Given the description of an element on the screen output the (x, y) to click on. 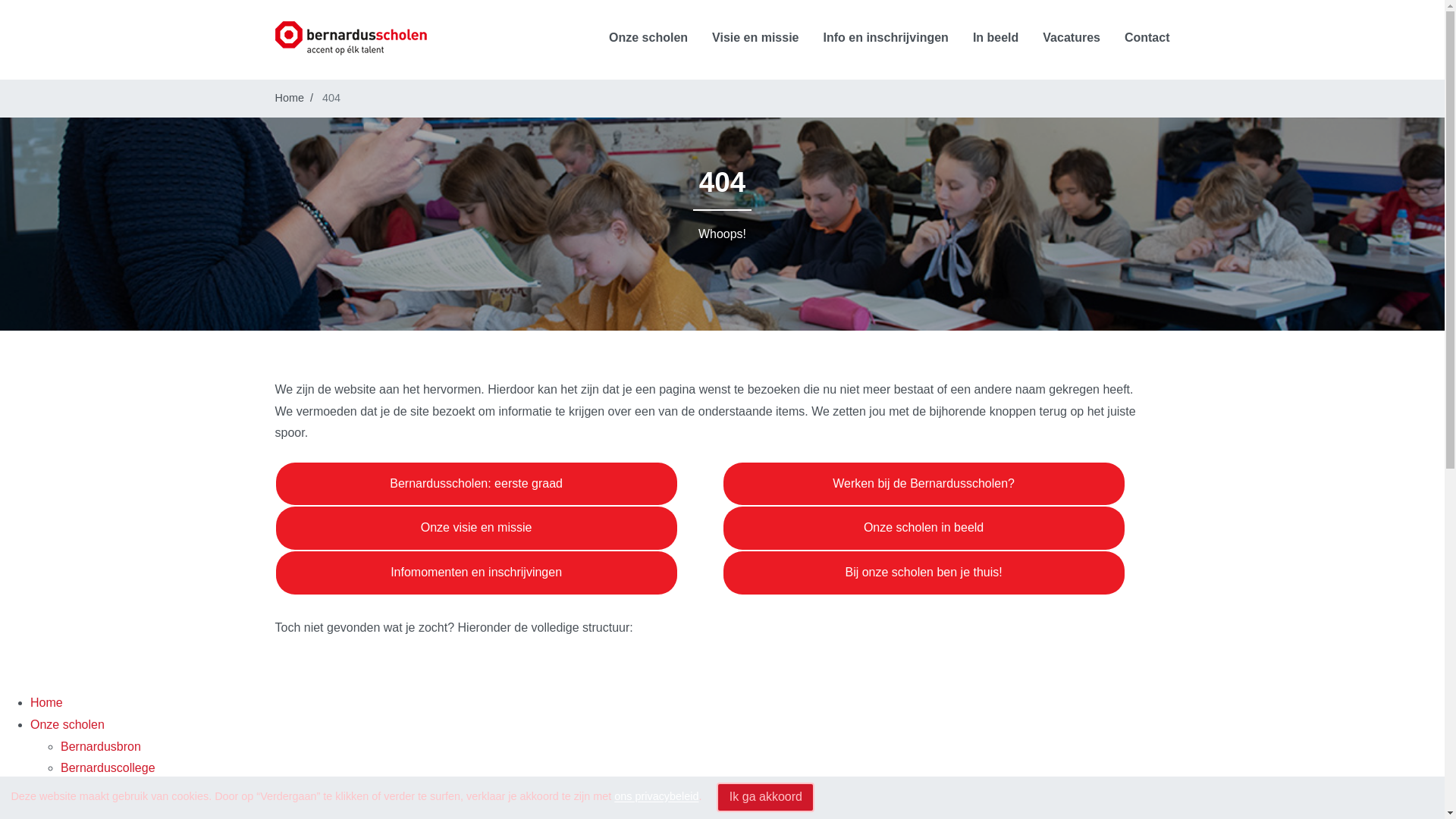
Home Element type: text (288, 97)
Info en inschrijvingen Element type: text (885, 38)
Ik ga akkoord Element type: text (765, 797)
Onze scholen in beeld Element type: text (923, 527)
Home Element type: text (46, 702)
Onze scholen Element type: text (67, 724)
Werken bij de Bernardusscholen? Element type: text (923, 483)
Bernardusvija Element type: text (97, 811)
ons privacybeleid Element type: text (656, 796)
Bernarduscollege Element type: text (107, 767)
Bernardustechnicum Element type: text (116, 789)
Bij onze scholen ben je thuis! Element type: text (923, 572)
Onze scholen Element type: text (647, 38)
Vacatures Element type: text (1071, 38)
In beeld Element type: text (995, 38)
Visie en missie Element type: text (755, 38)
Contact Element type: text (1147, 38)
Bernardusscholen: eerste graad Element type: text (476, 483)
Bernardusbron Element type: text (100, 746)
Bernardusscholen Element type: hover (350, 38)
Infomomenten en inschrijvingen Element type: text (476, 572)
Onze visie en missie Element type: text (476, 527)
